Given the description of an element on the screen output the (x, y) to click on. 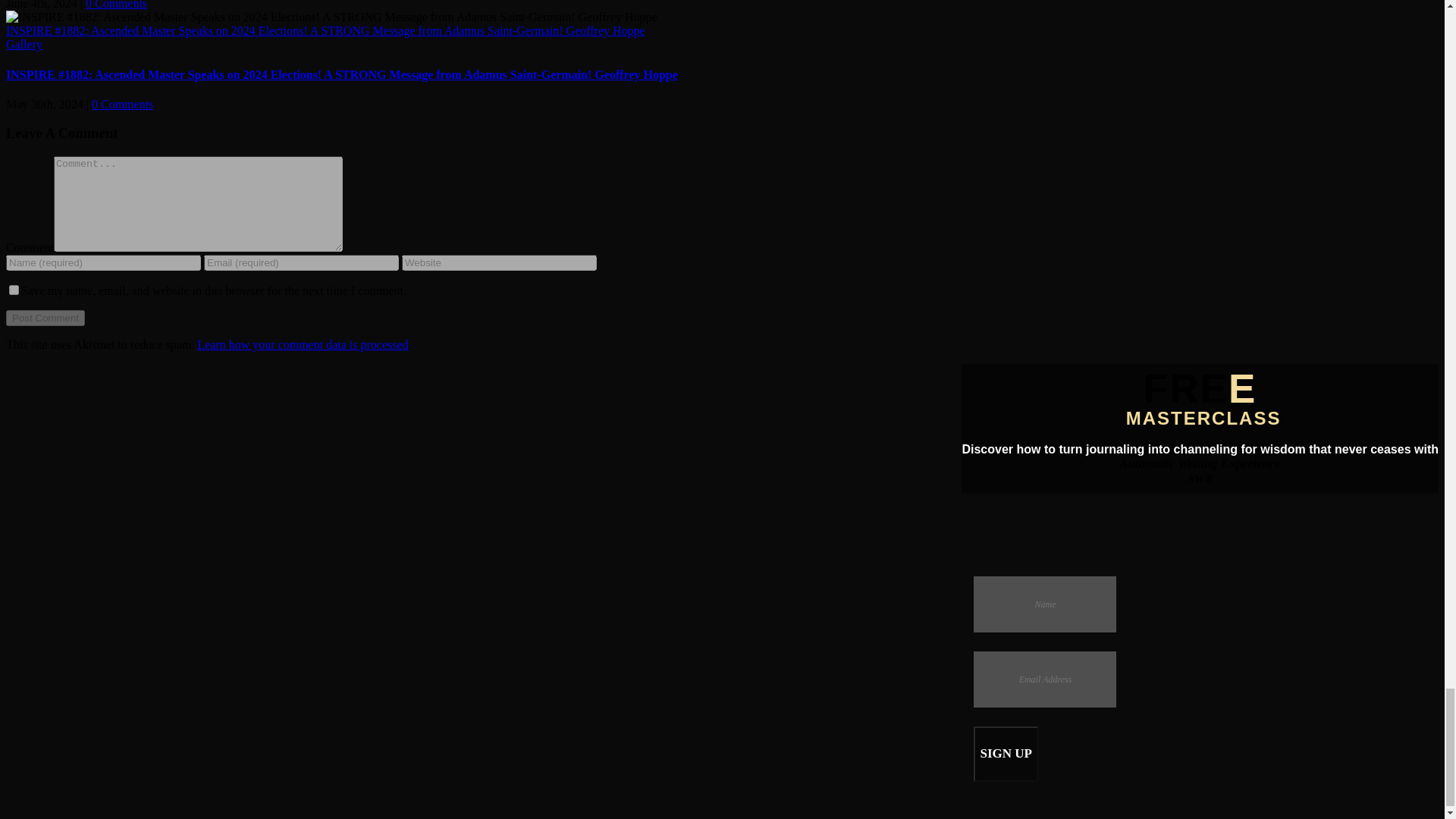
Post Comment (44, 317)
yes (13, 289)
